Given the description of an element on the screen output the (x, y) to click on. 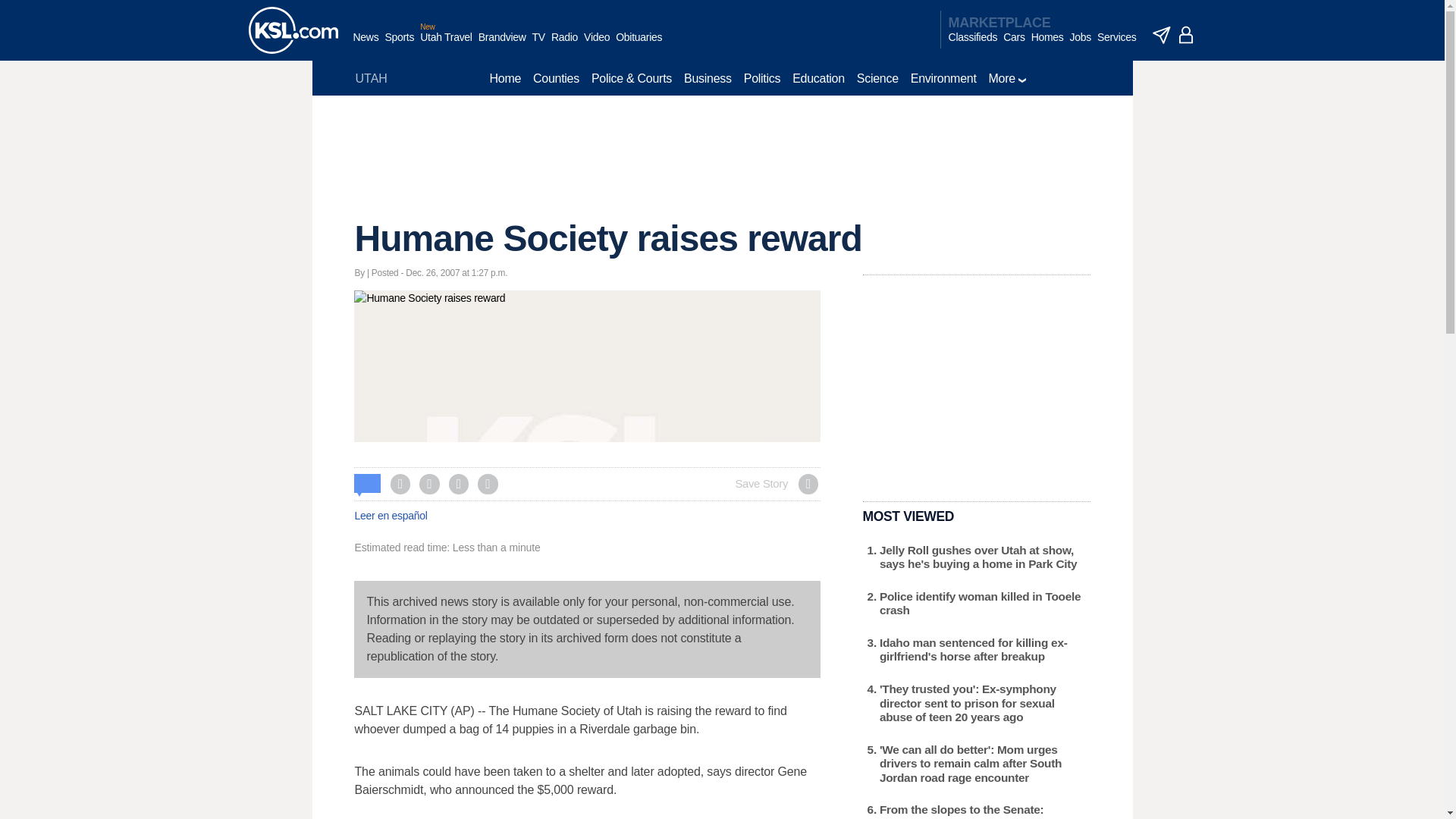
account - logged out (1185, 34)
Sports (398, 45)
KSL homepage (292, 30)
Brandview (502, 45)
Utah Travel (445, 45)
KSL homepage (292, 29)
